Given the description of an element on the screen output the (x, y) to click on. 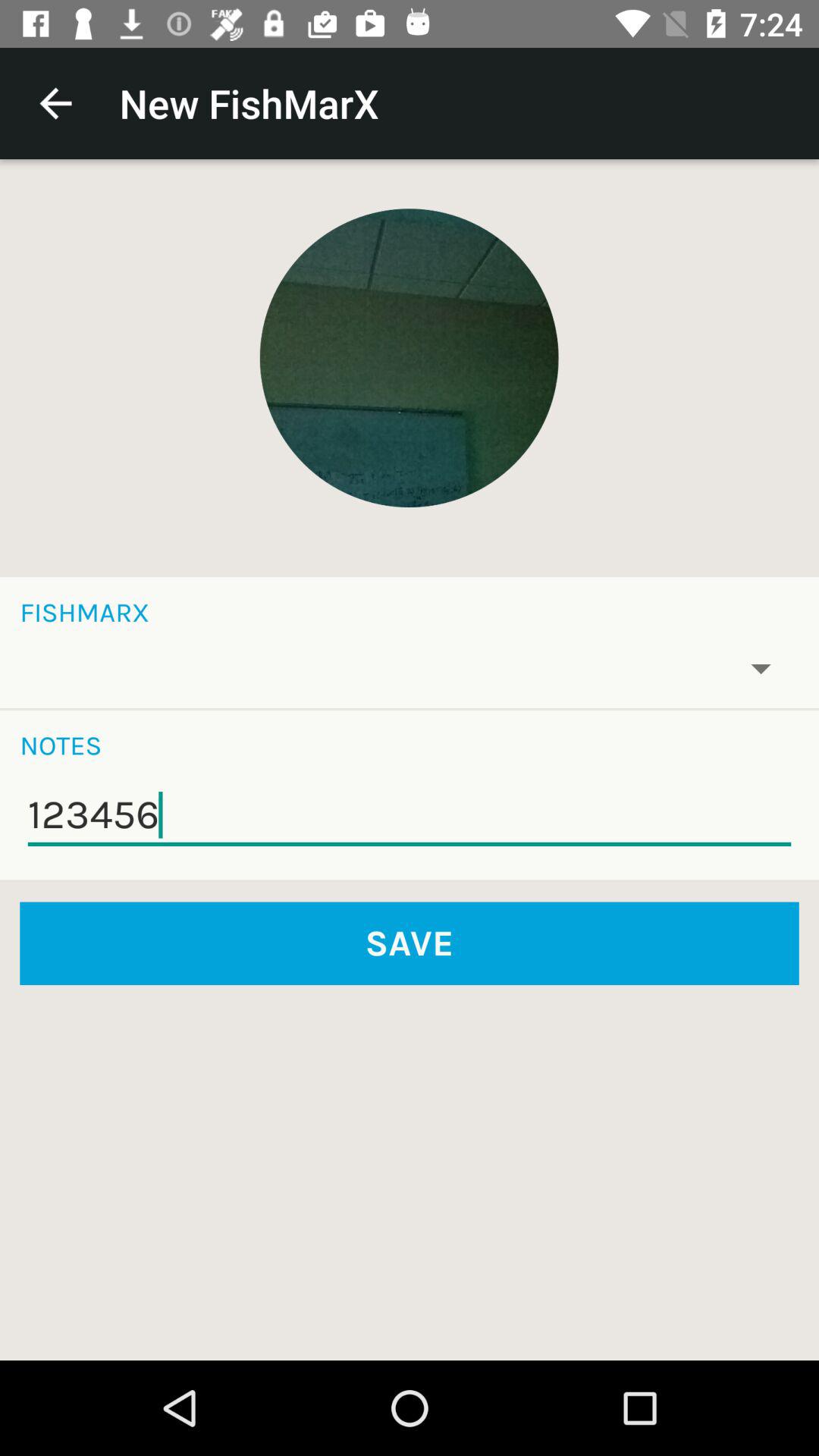
tap the save (409, 943)
